Given the description of an element on the screen output the (x, y) to click on. 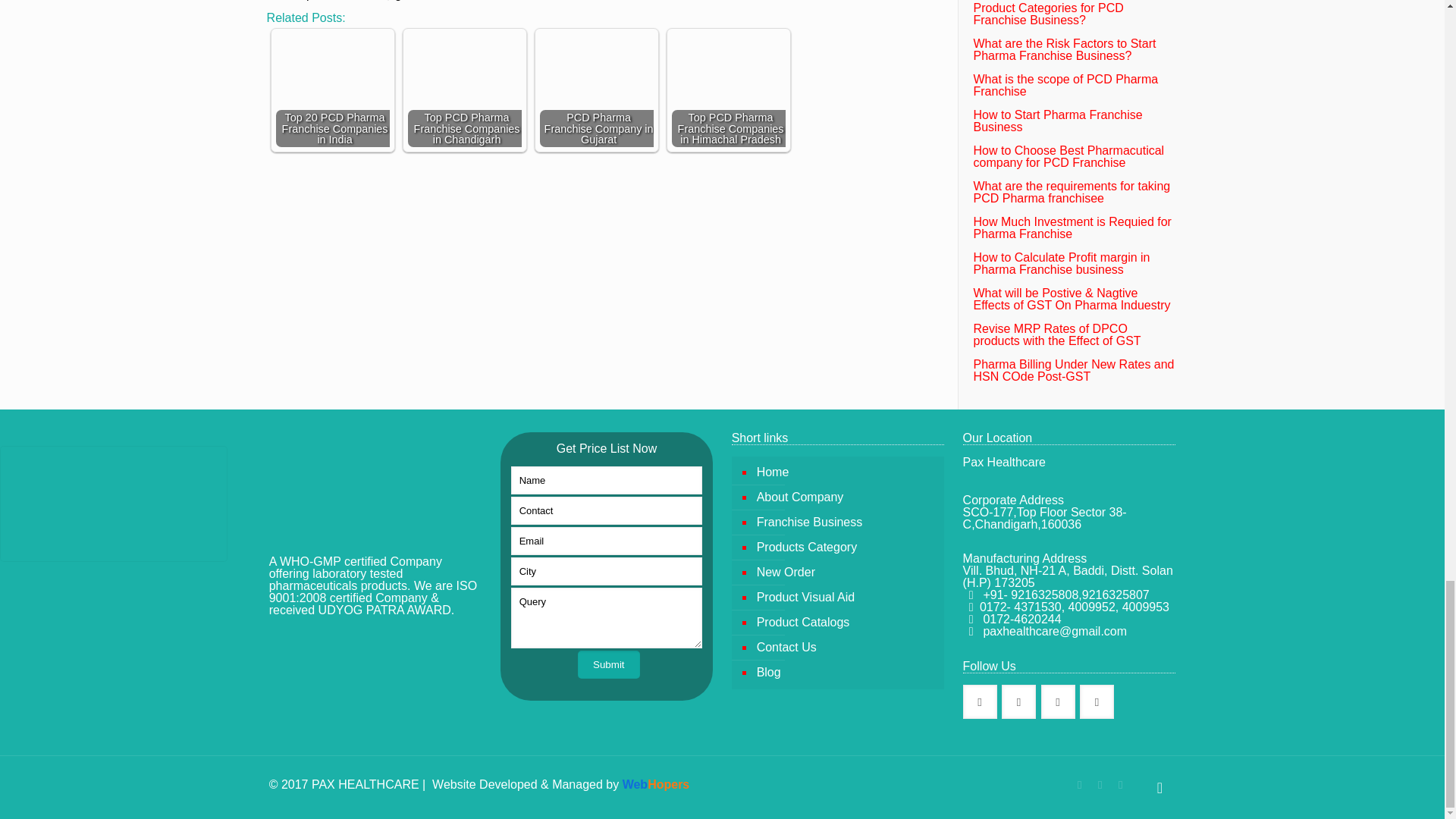
Top 20 PCD Pharma Franchise Companies in India (333, 90)
Top PCD Pharma Franchise Companies in Himachal Pradesh (728, 90)
PCD Pharma Franchise Company in Gujarat (596, 90)
Top PCD Pharma Franchise Companies in Chandigarh (464, 70)
Submit (608, 664)
